Given the description of an element on the screen output the (x, y) to click on. 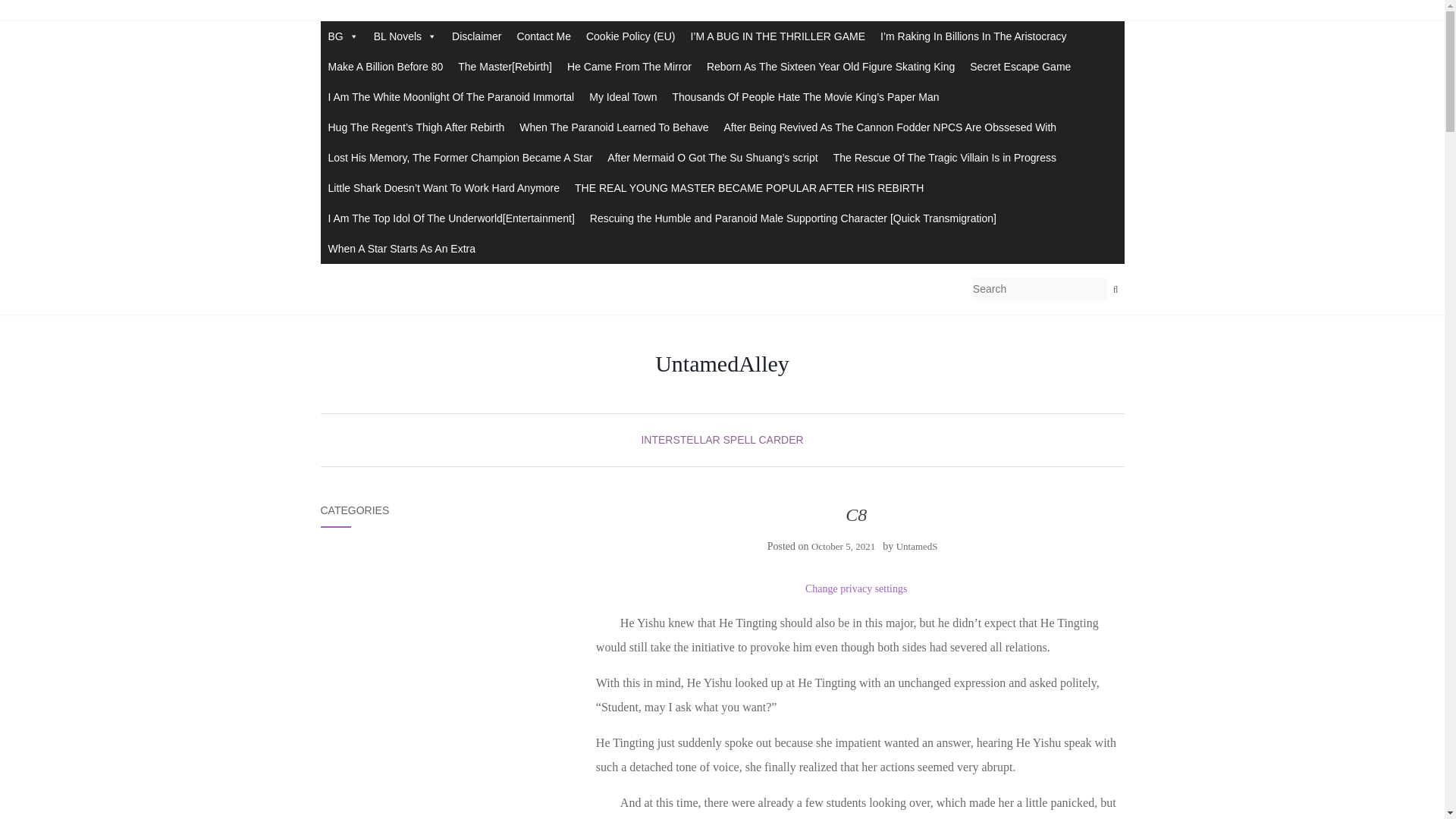
Secret Escape Game (1020, 66)
Reborn As The Sixteen Year Old Figure Skating King (830, 66)
BL Novels (405, 36)
The Rescue Of The Tragic Villain Is in Progress (944, 157)
UntamedAlley (722, 363)
UntamedAlley (722, 363)
He Came From The Mirror (628, 66)
Make A Billion Before 80 (384, 66)
I Am The White Moonlight Of The Paranoid Immortal (450, 96)
